Given the description of an element on the screen output the (x, y) to click on. 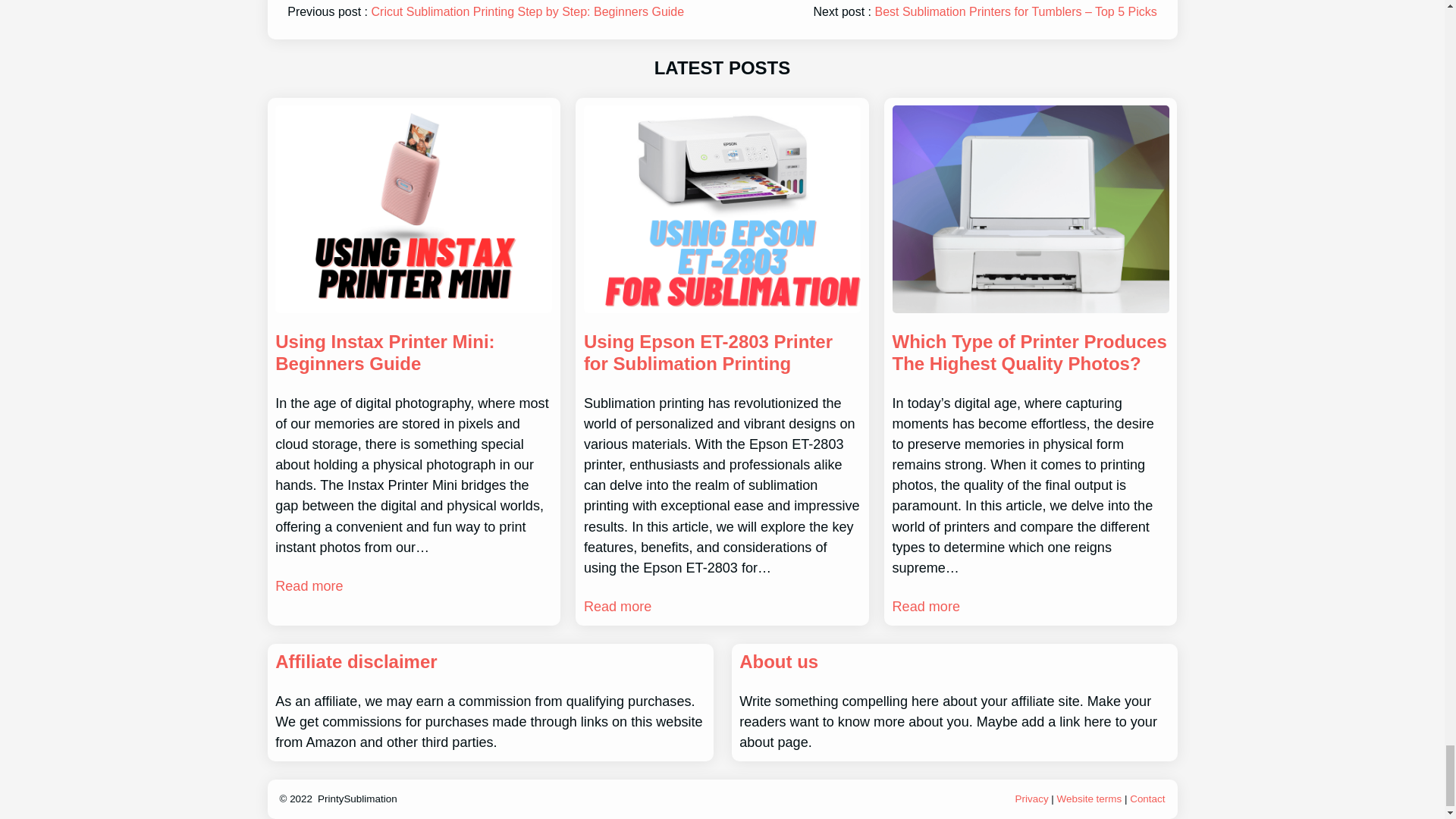
PrintySublimation (357, 798)
Using Epson ET-2803 Printer for Sublimation Printing (721, 353)
Cricut Sublimation Printing Step by Step: Beginners Guide (527, 11)
Privacy (1032, 798)
Using Instax Printer Mini: Beginners Guide (413, 353)
Website terms (1089, 798)
Which Type of Printer Produces The Highest Quality Photos? (1030, 353)
Read more (616, 607)
Read more (308, 586)
Read more (925, 607)
Contact (1146, 798)
